Given the description of an element on the screen output the (x, y) to click on. 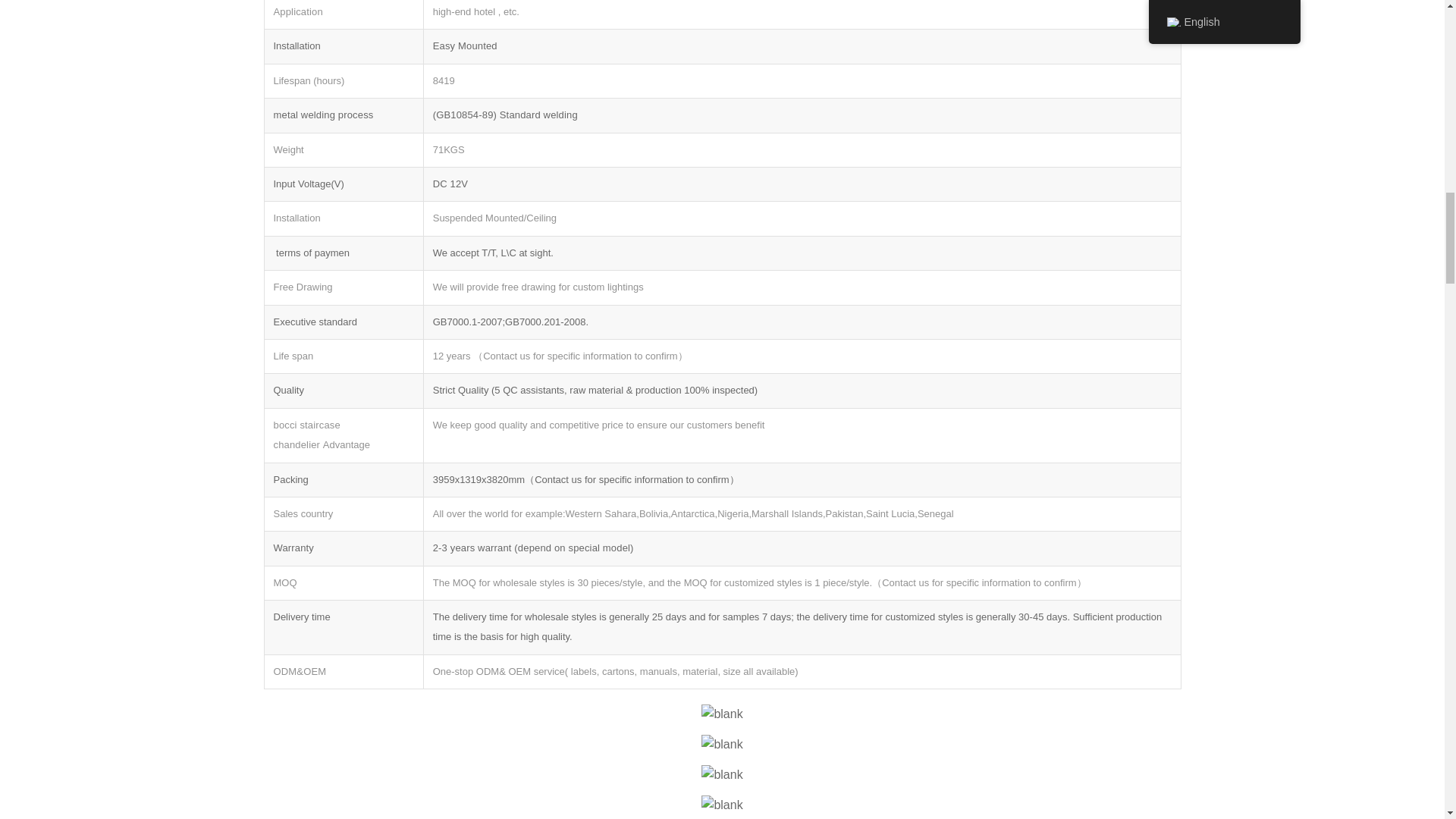
bocci staircase chandelier (721, 774)
bocci staircase chandelier (721, 713)
bocci staircase chandelier (721, 804)
bocci staircase chandelier (721, 744)
